Given the description of an element on the screen output the (x, y) to click on. 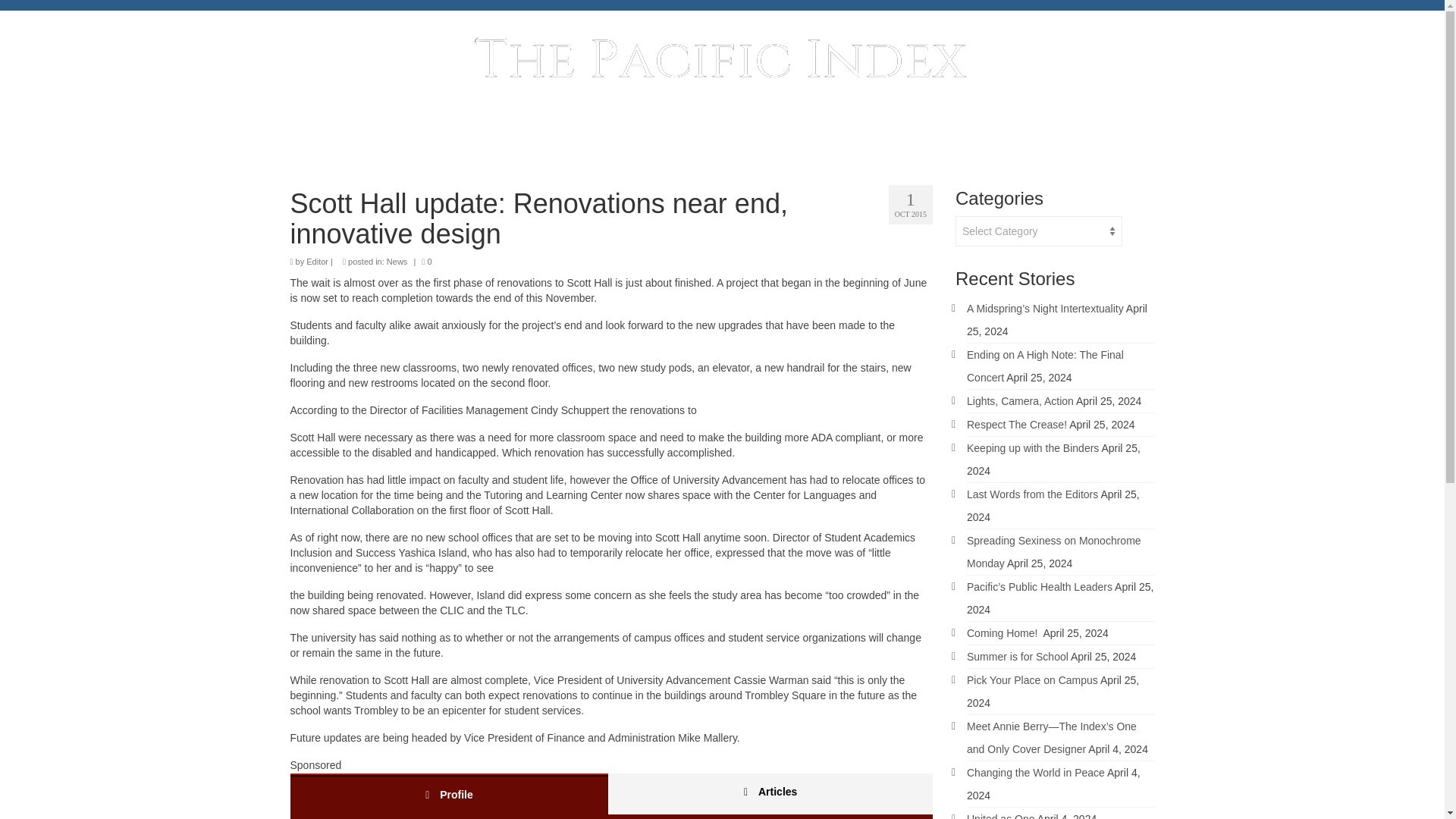
Keeping up with the Binders (1032, 448)
Pick Your Place on Campus (1031, 680)
Coming Home!  (1003, 633)
Changing the World in Peace (1035, 772)
Arts and Culture (727, 136)
Editor (317, 261)
Ending on A High Note: The Final Concert (1045, 366)
Summer is for School (1017, 656)
Respect The Crease! (1016, 424)
United as One (1000, 816)
Last Words from the Editors (1031, 494)
Staff (891, 136)
Lights, Camera, Action (1020, 400)
News (397, 261)
